Given the description of an element on the screen output the (x, y) to click on. 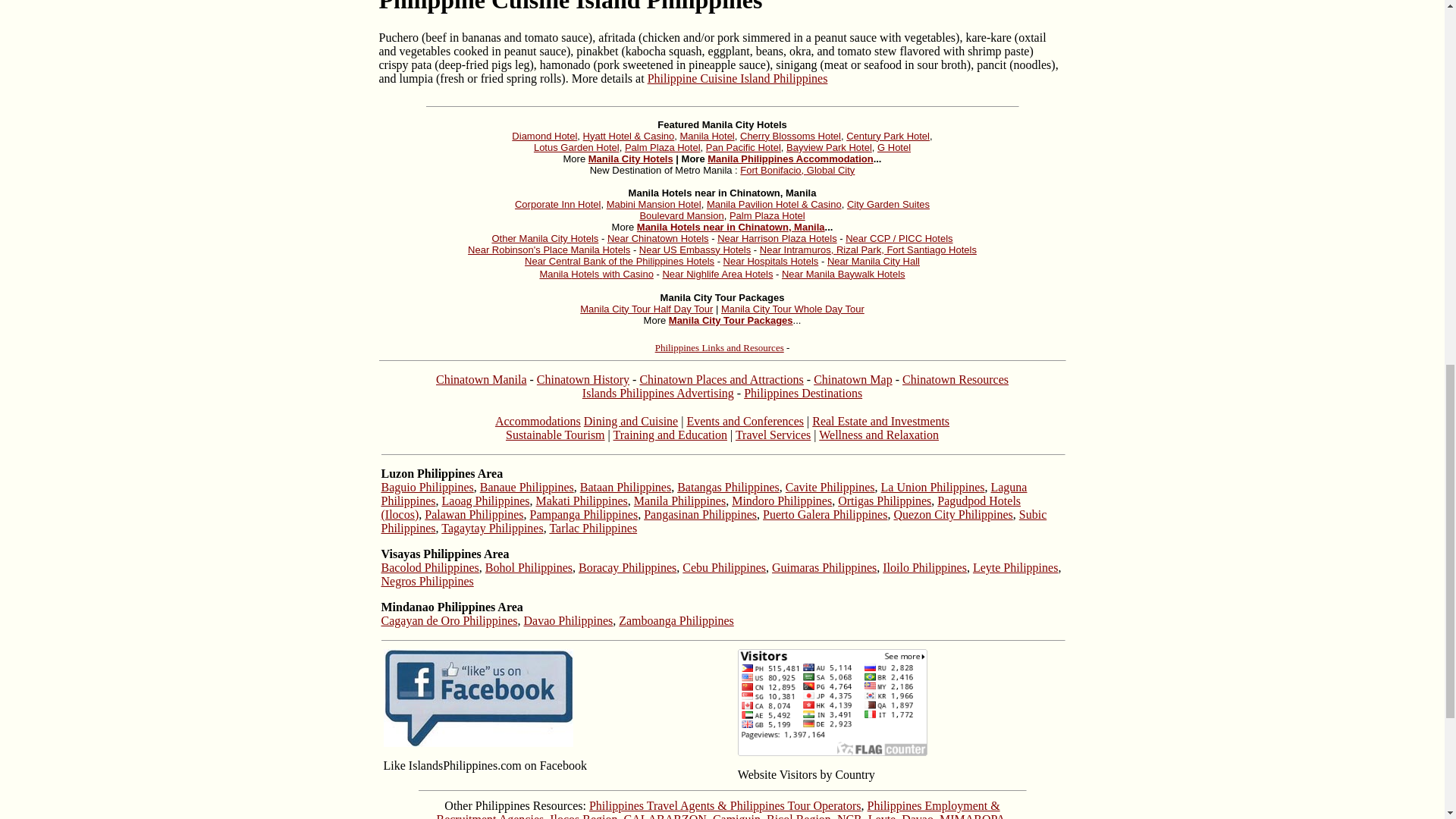
Diamond Hotel (544, 135)
Manila City Hotels (630, 158)
G Hotel (894, 147)
Lotus Garden Hotel (577, 147)
Bayview Park Hotel (829, 147)
Pan Pacific Hotel (743, 147)
Philippines Links and Resources (719, 347)
Palm Plaza Hotel (662, 147)
Philippine Cuisine Island Philippines (737, 78)
Cherry Blossoms Hotel (790, 135)
Manila Philippines Accommodation (789, 158)
Century Park Hotel (887, 135)
Manila Hotel (706, 135)
